Given the description of an element on the screen output the (x, y) to click on. 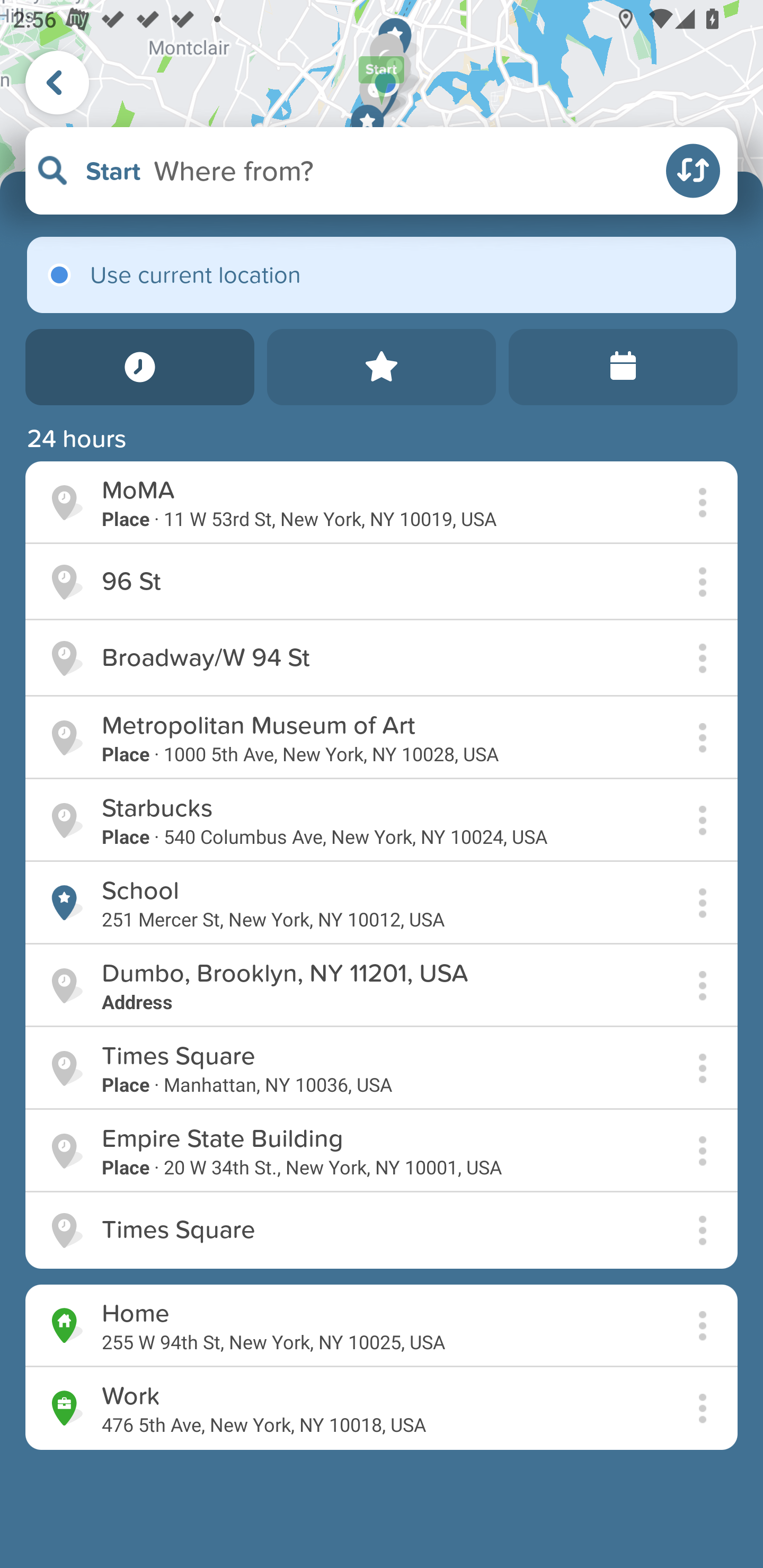
Saved (381, 366)
